Given the description of an element on the screen output the (x, y) to click on. 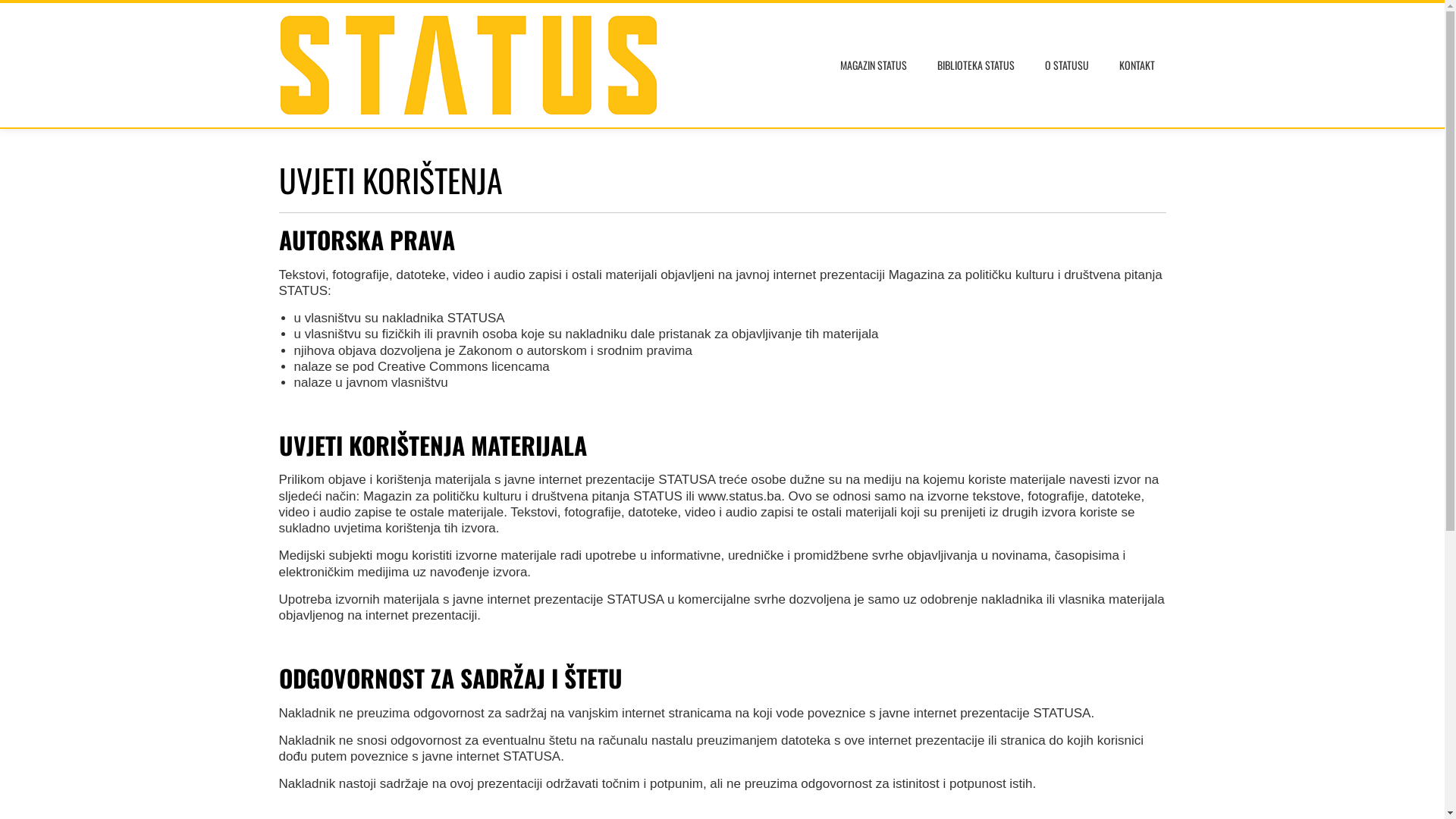
MAGAZIN STATUS Element type: text (872, 64)
O STATUSU Element type: text (1065, 64)
KONTAKT Element type: text (1136, 64)
BIBLIOTEKA STATUS Element type: text (975, 64)
